Given the description of an element on the screen output the (x, y) to click on. 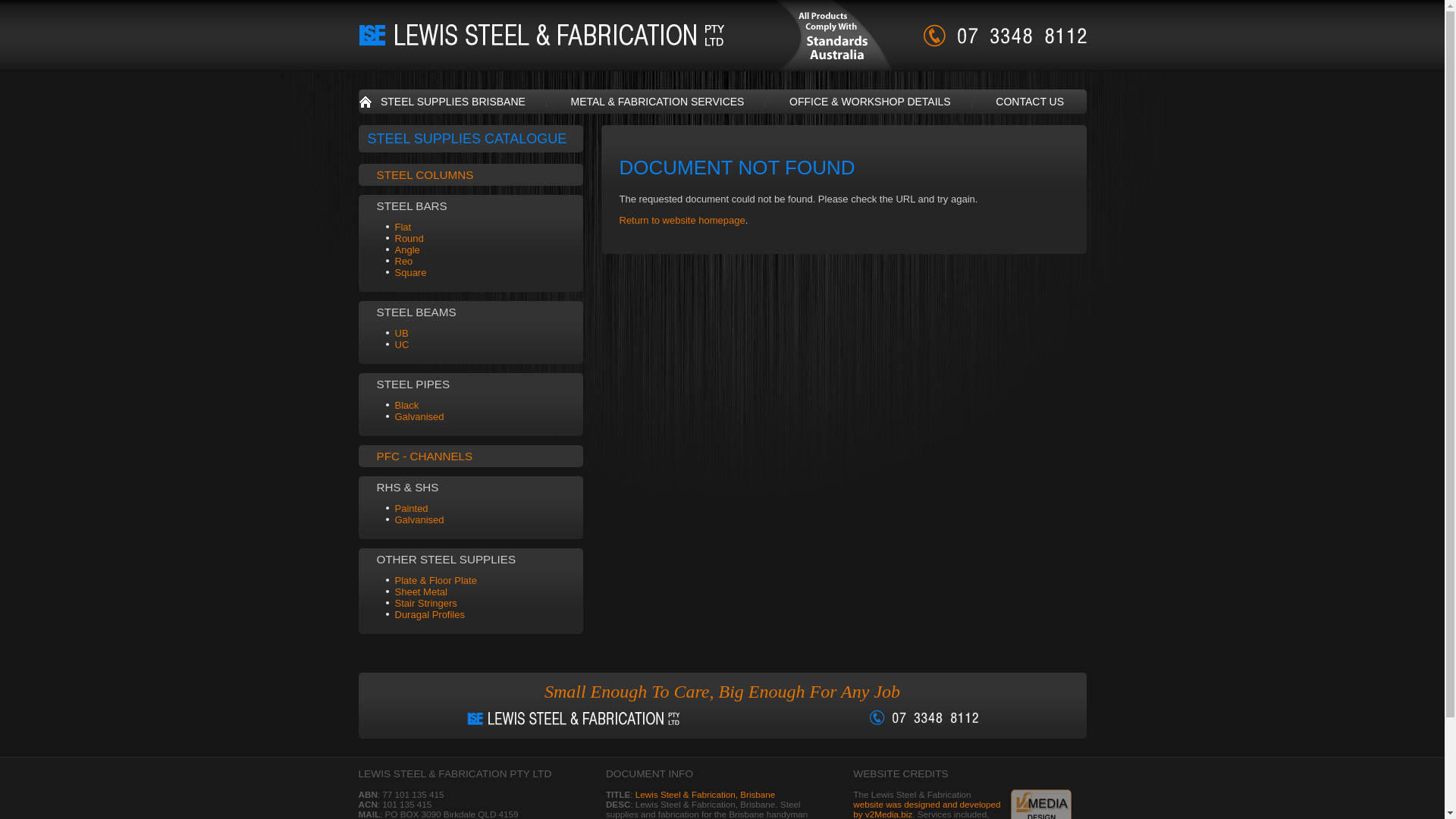
Return to website homepage Element type: text (681, 219)
UC Element type: text (401, 344)
Sheet Metal Element type: text (420, 591)
STEEL COLUMNS Element type: text (424, 174)
UB Element type: text (400, 332)
PFC - CHANNELS Element type: text (424, 455)
Stair Stringers Element type: text (425, 602)
Galvanised Element type: text (418, 416)
Duragal Profiles Element type: text (429, 614)
Galvanised Element type: text (418, 519)
Square Element type: text (410, 272)
CONTACT US Element type: text (1029, 101)
Plate & Floor Plate Element type: text (435, 580)
Flat Element type: text (402, 226)
Round Element type: text (408, 238)
OFFICE & WORKSHOP DETAILS Element type: text (870, 101)
Black Element type: text (406, 405)
METAL & FABRICATION SERVICES Element type: text (657, 101)
Angle Element type: text (406, 249)
STEEL SUPPLIES BRISBANE Element type: text (452, 101)
Painted Element type: text (410, 508)
Reo Element type: text (403, 260)
Lewis Steel & Fabrication, Brisbane Element type: text (705, 794)
